Given the description of an element on the screen output the (x, y) to click on. 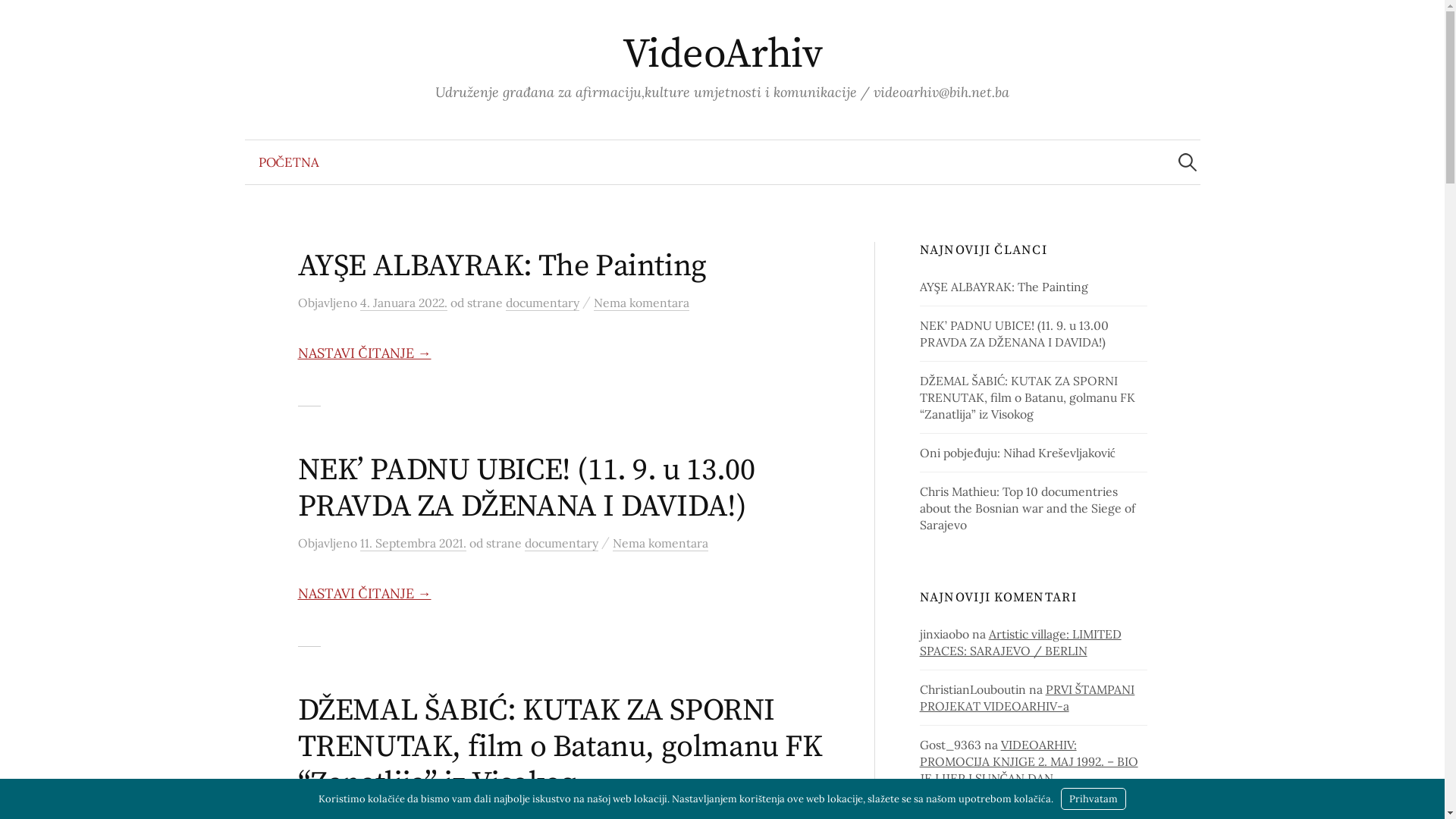
Pretraga Element type: text (18, 18)
documentary Element type: text (561, 543)
Artistic village: LIMITED SPACES: SARAJEVO / BERLIN Element type: text (1020, 642)
Prihvatam Element type: text (1093, 798)
11. Septembra 2021. Element type: text (412, 543)
4. Januara 2022. Element type: text (402, 302)
VideoArhiv Element type: text (722, 54)
documentary Element type: text (541, 302)
